Given the description of an element on the screen output the (x, y) to click on. 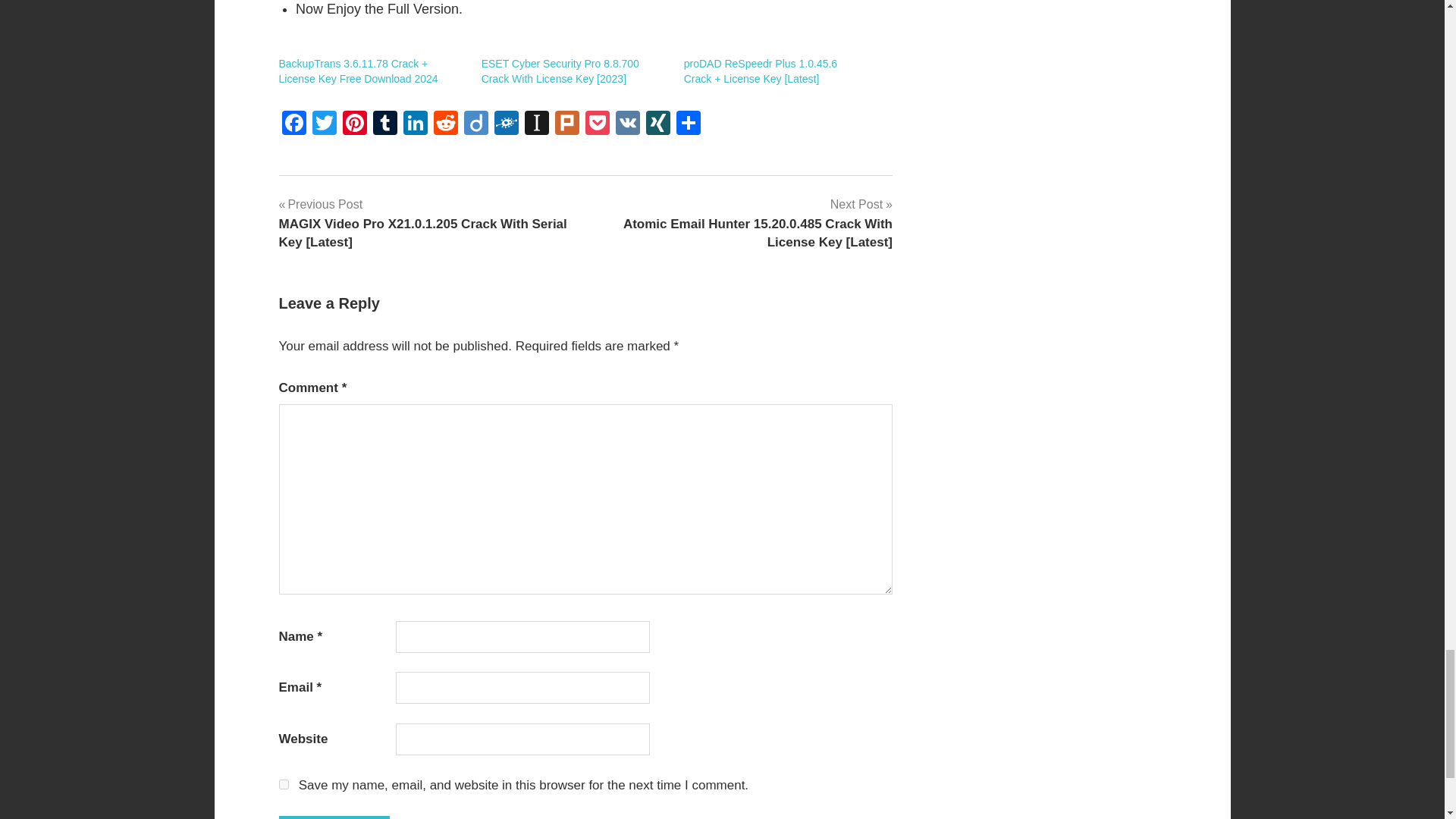
Folkd (506, 124)
Twitter (323, 124)
LinkedIn (415, 124)
Pinterest (354, 124)
Pinterest (354, 124)
Tumblr (384, 124)
Tumblr (384, 124)
yes (283, 784)
Reddit (445, 124)
Facebook (293, 124)
Post Comment (334, 817)
Instapaper (536, 124)
Facebook (293, 124)
LinkedIn (415, 124)
Twitter (323, 124)
